Given the description of an element on the screen output the (x, y) to click on. 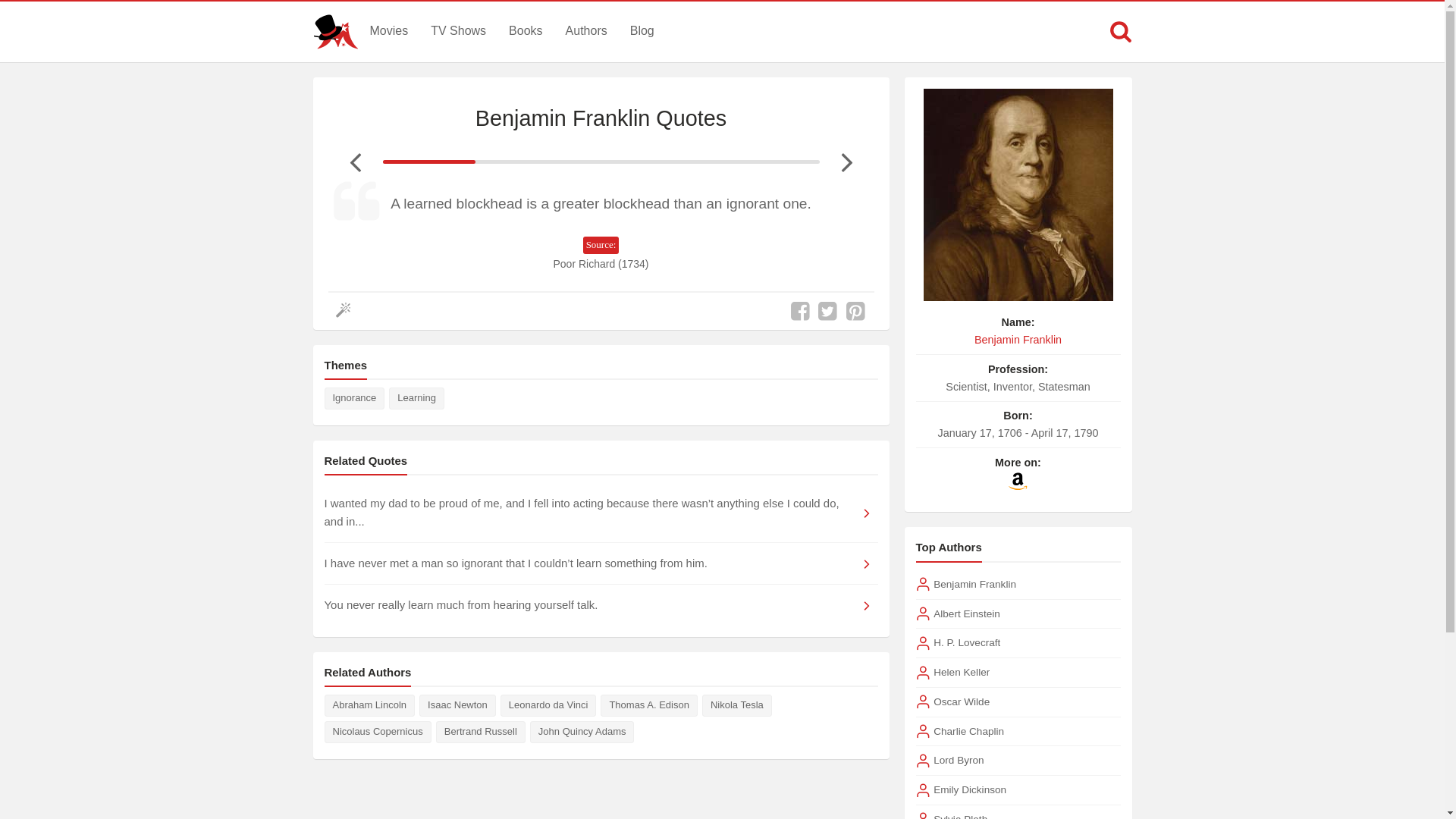
Movies (388, 30)
TV Shows (458, 30)
Albert Einstein (966, 614)
Benjamin Franklin Quotes (601, 118)
Learning (416, 398)
Isaac Newton (457, 705)
Books (525, 30)
Thomas A. Edison (648, 705)
You never really learn much from hearing yourself talk. (600, 604)
Nikola Tesla (736, 705)
Benjamin Franklin (974, 584)
H. P. Lovecraft (966, 642)
Helen Keller (961, 672)
Leonardo da Vinci (548, 705)
Next Benjamin Franklin Quote (845, 161)
